Given the description of an element on the screen output the (x, y) to click on. 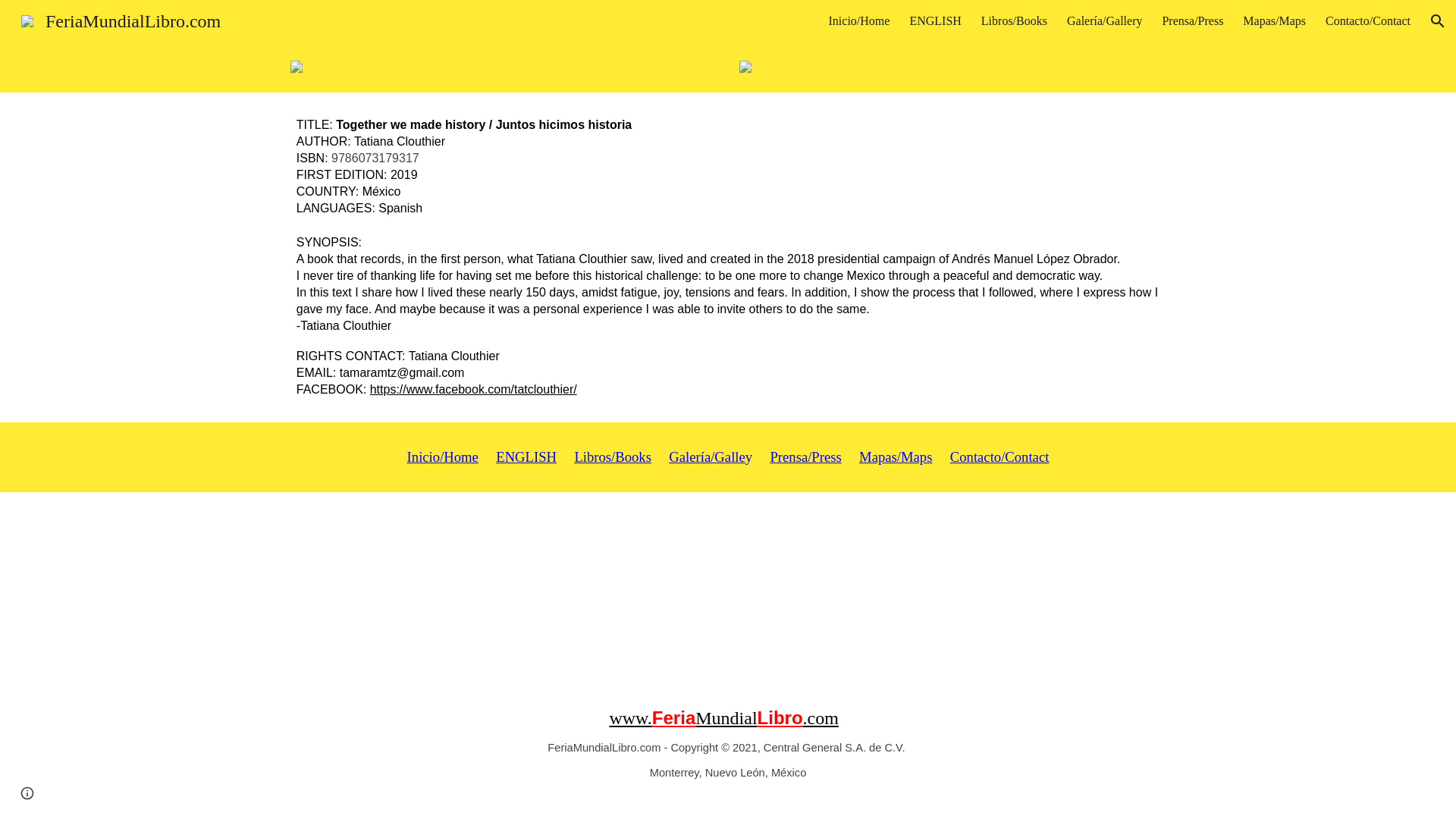
ENGLISH (526, 457)
FeriaMundialLibro.com (120, 19)
www.FeriaMundialLibro.com (723, 721)
ENGLISH (934, 20)
